Given the description of an element on the screen output the (x, y) to click on. 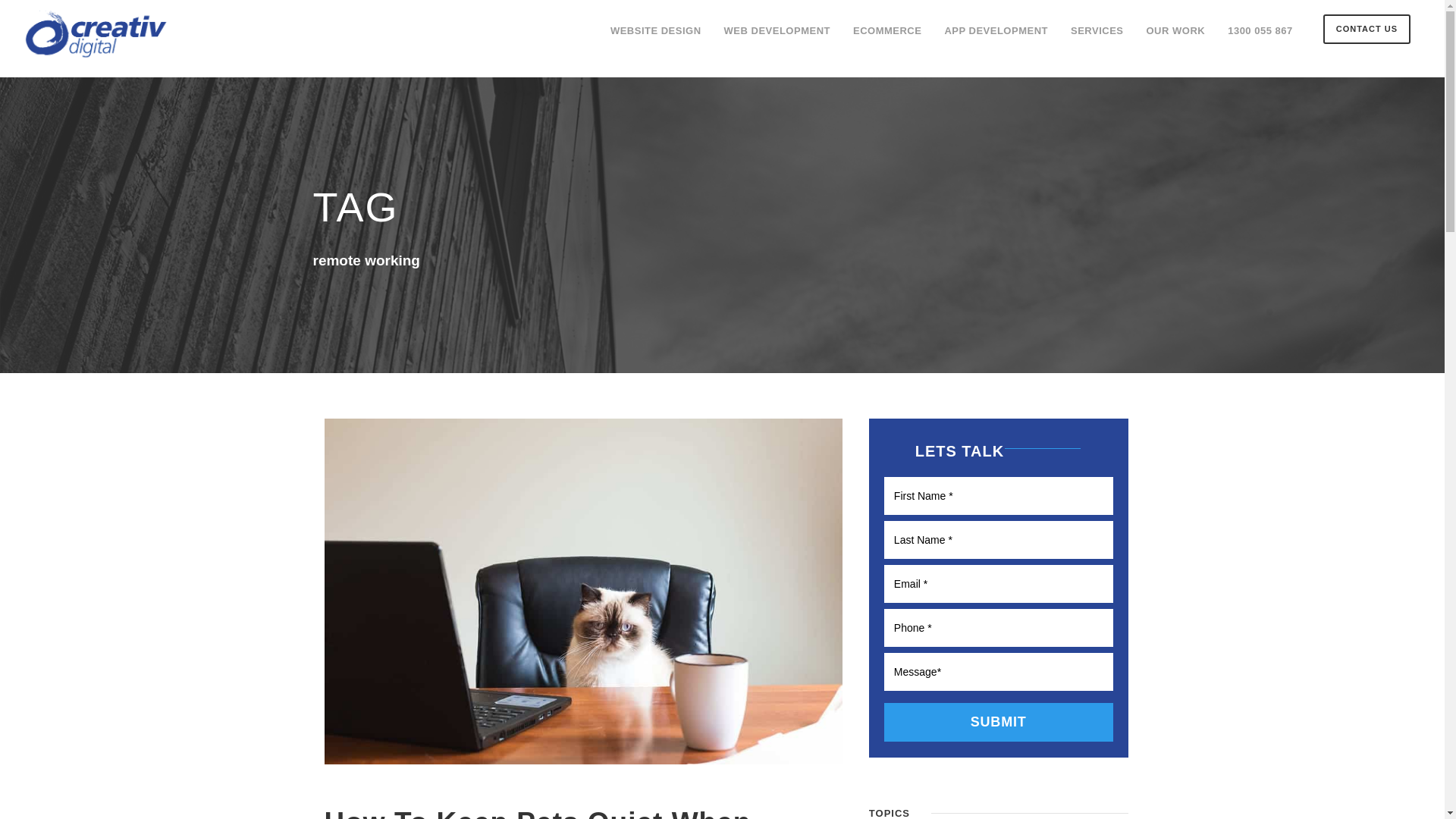
CONTACT US Element type: text (1366, 28)
1300 055 867 Element type: text (1259, 37)
OUR WORK Element type: text (1175, 37)
creativdigital Element type: hover (98, 35)
Submit Element type: text (998, 721)
WEBSITE DESIGN Element type: text (655, 37)
SERVICES Element type: text (1096, 37)
WEB DEVELOPMENT Element type: text (777, 37)
pets-at-work Element type: hover (583, 591)
ECOMMERCE Element type: text (887, 37)
APP DEVELOPMENT Element type: text (996, 37)
